Given the description of an element on the screen output the (x, y) to click on. 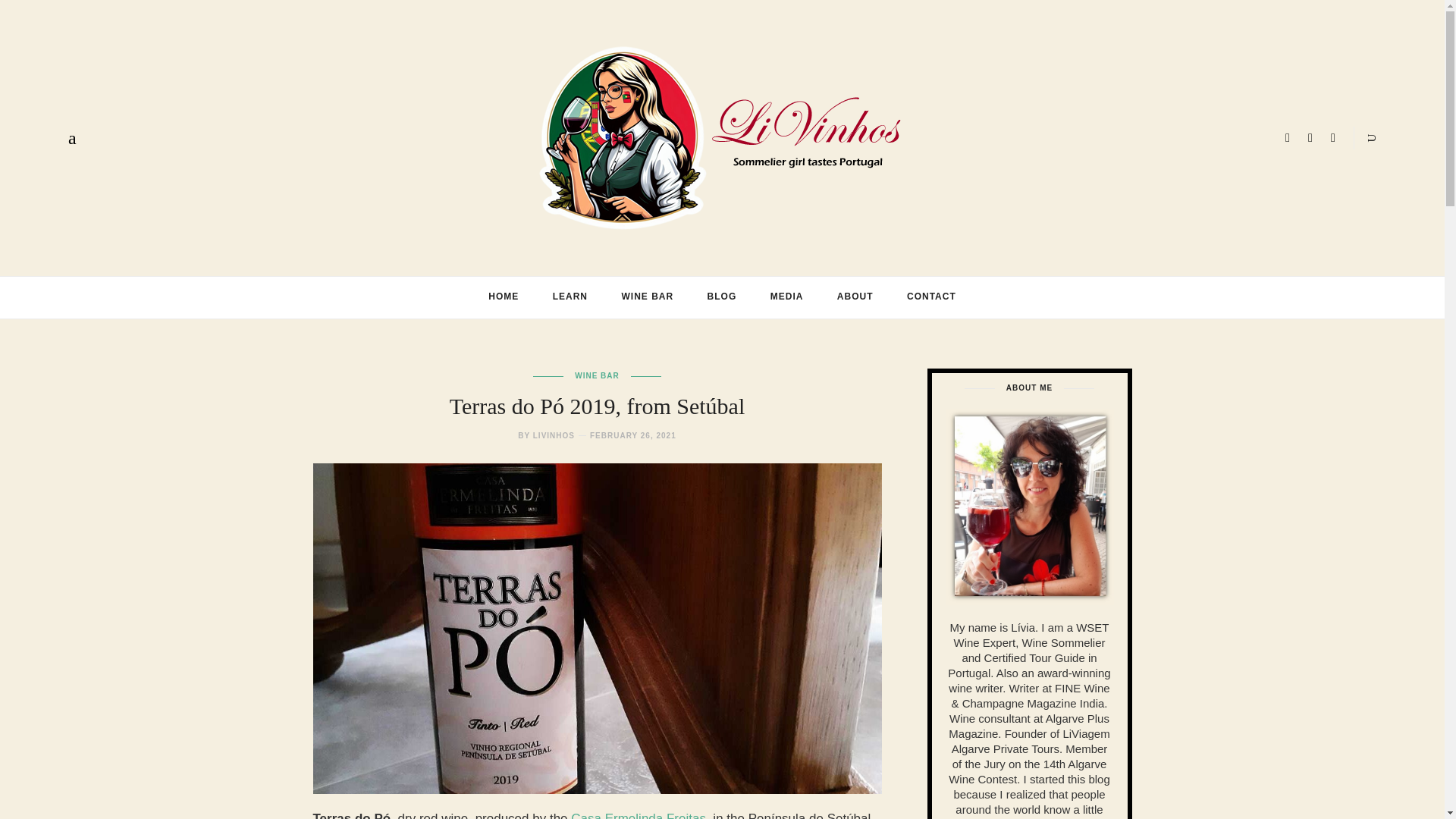
CONTACT (931, 296)
BLOG (722, 296)
WINE BAR (597, 375)
MEDIA (786, 296)
Livinhos (721, 136)
WINE BAR (646, 296)
LEARN (569, 296)
Posts by Livinhos (553, 435)
